Given the description of an element on the screen output the (x, y) to click on. 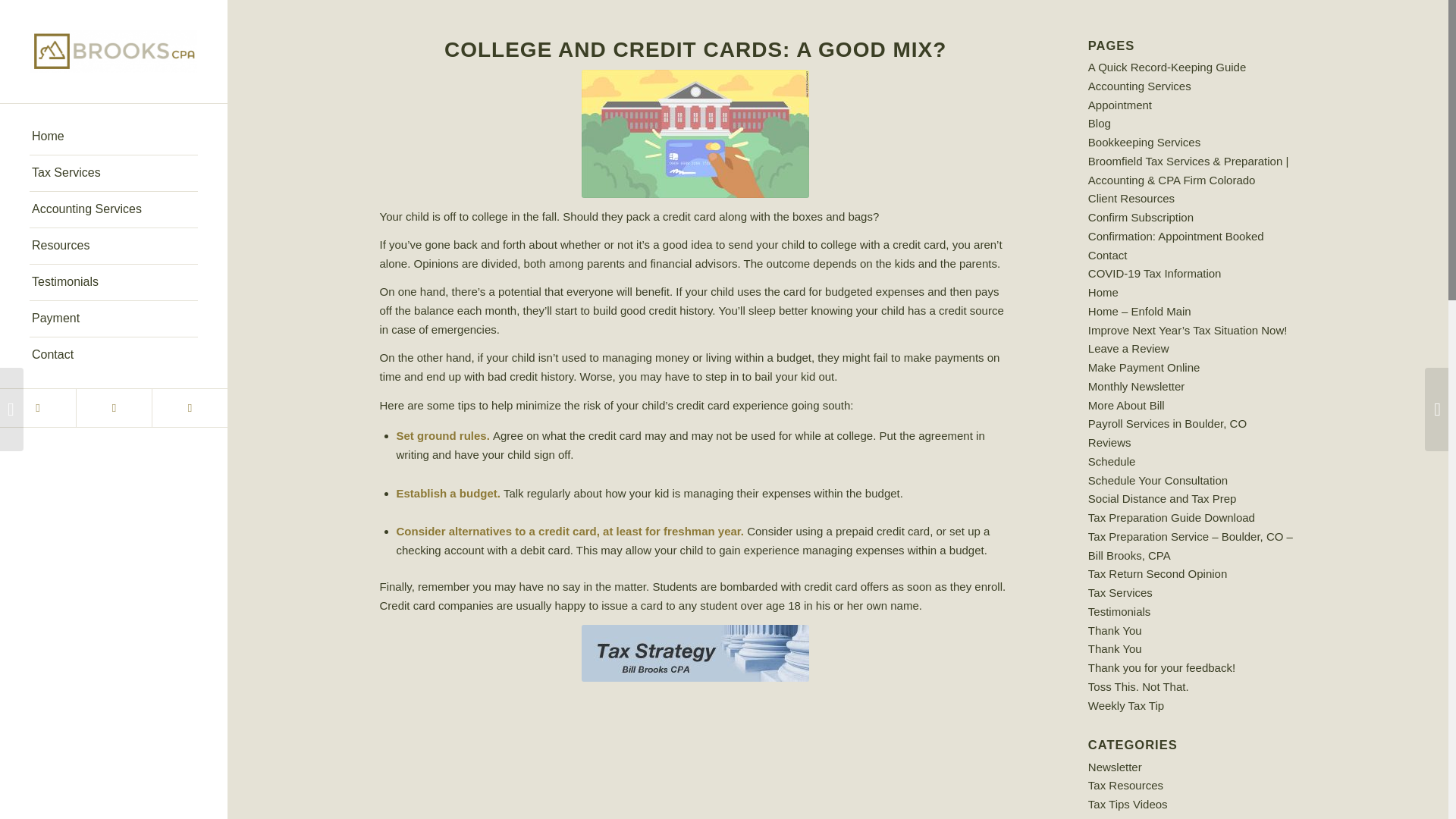
Facebook (113, 407)
Home (113, 136)
Twitter (37, 407)
Testimonials (113, 282)
Footer (694, 652)
Youtube (189, 407)
Accounting Services (1139, 85)
Tax Services (113, 173)
Resources (113, 246)
Accounting Services (113, 209)
